Given the description of an element on the screen output the (x, y) to click on. 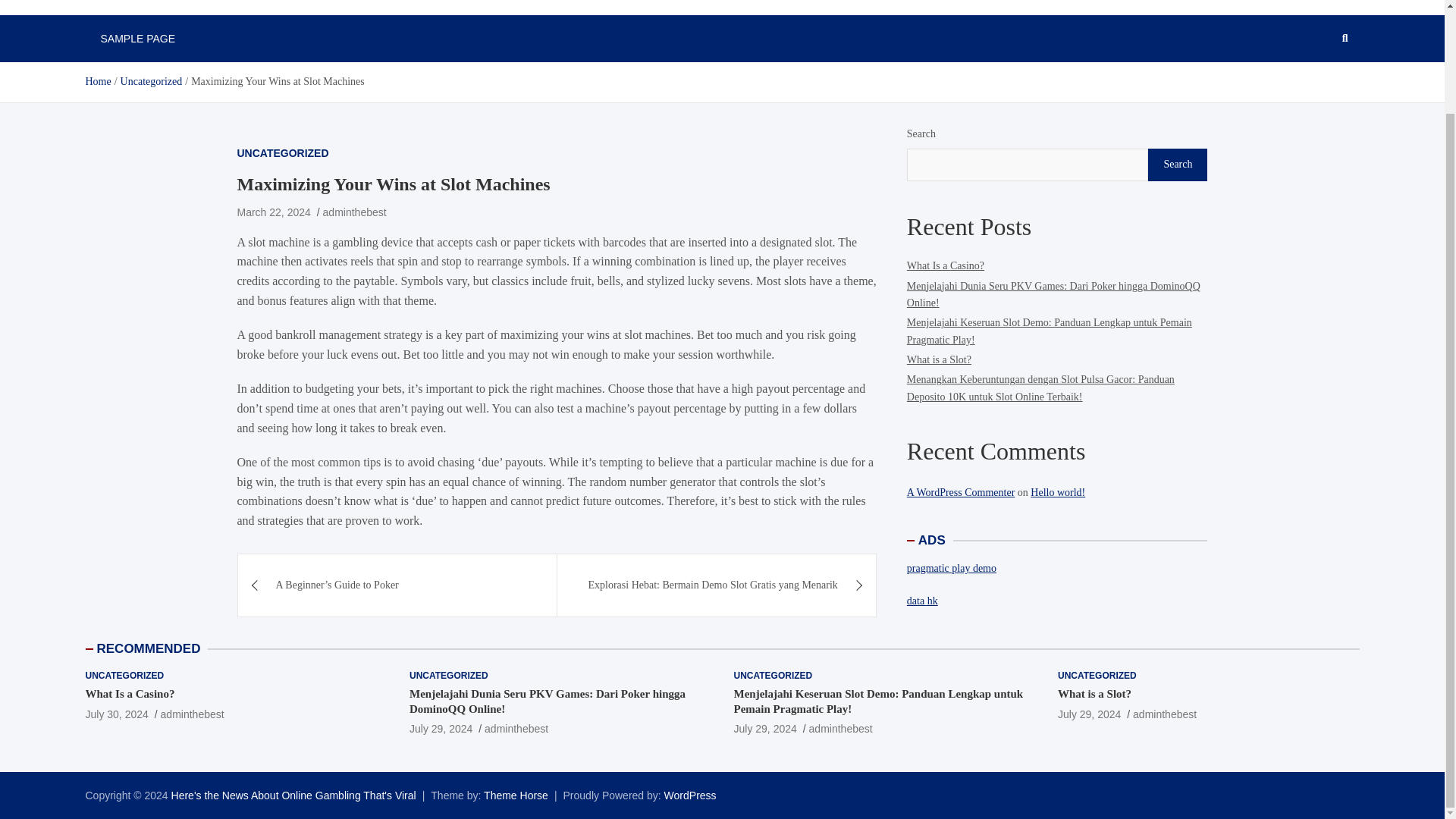
UNCATEGORIZED (282, 152)
What is a Slot? (1089, 714)
adminthebest (516, 728)
adminthebest (1164, 714)
Explorasi Hebat: Bermain Demo Slot Gratis yang Menarik (716, 585)
Here's the News About Online Gambling That's Viral (293, 795)
July 30, 2024 (116, 714)
Home (97, 81)
Uncategorized (151, 81)
What is a Slot? (939, 359)
July 29, 2024 (1089, 714)
adminthebest (355, 212)
Here's the News About Online Gambling That's Viral (293, 795)
